Given the description of an element on the screen output the (x, y) to click on. 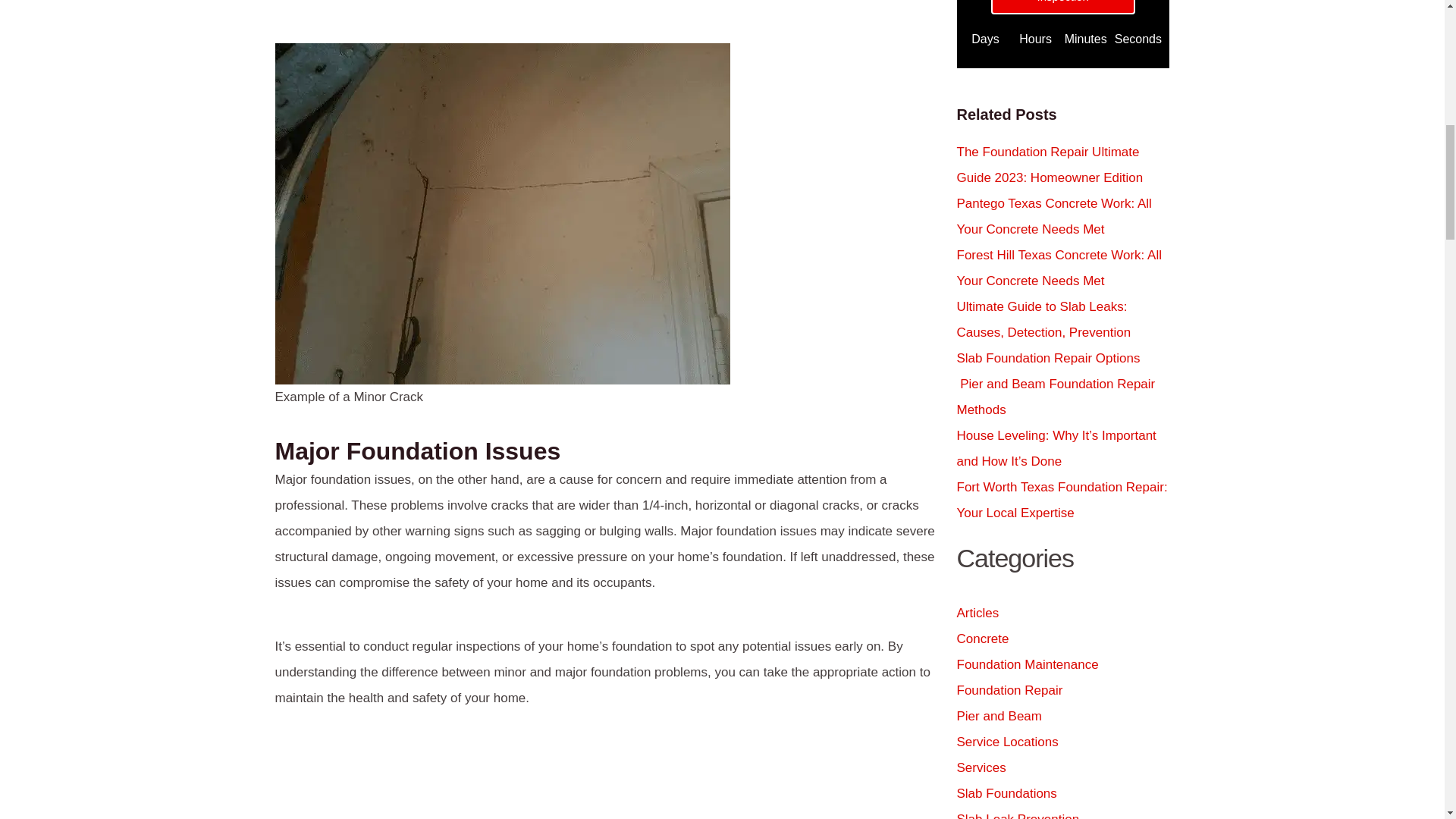
Articles (977, 612)
Foundation Repair (1009, 690)
Slab Foundation Repair Options (1048, 358)
Ultimate Guide to Slab Leaks: Causes, Detection, Prevention (1043, 319)
Pantego Texas Concrete Work: All Your Concrete Needs Met (1053, 216)
Fort Worth Texas Foundation Repair: Your Local Expertise (1061, 499)
Forest Hill Texas Concrete Work: All Your Concrete Needs Met (1058, 268)
 Pier and Beam Foundation Repair Methods (1056, 396)
The Foundation Repair Ultimate Guide 2023: Homeowner Edition (1049, 164)
Foundation Maintenance (1027, 664)
Slab Leak Prevention (1018, 815)
Service Locations (1007, 741)
Schedule a Free Inspection (1062, 7)
